Given the description of an element on the screen output the (x, y) to click on. 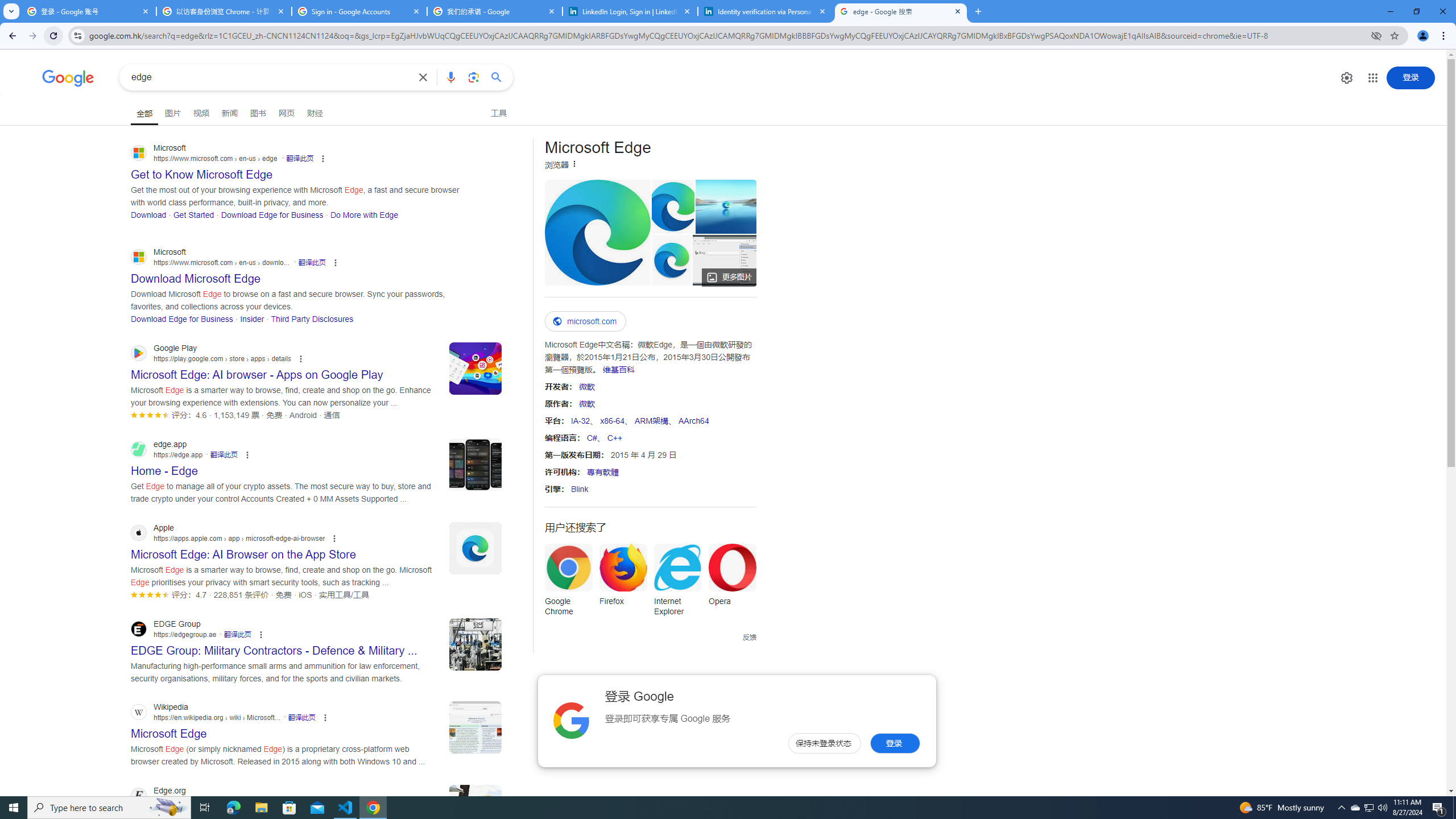
Blink (579, 488)
upload.wikimedia.org/wikipedia/commons/9/98/Micros... (597, 232)
Download Edge for Business (181, 318)
